Given the description of an element on the screen output the (x, y) to click on. 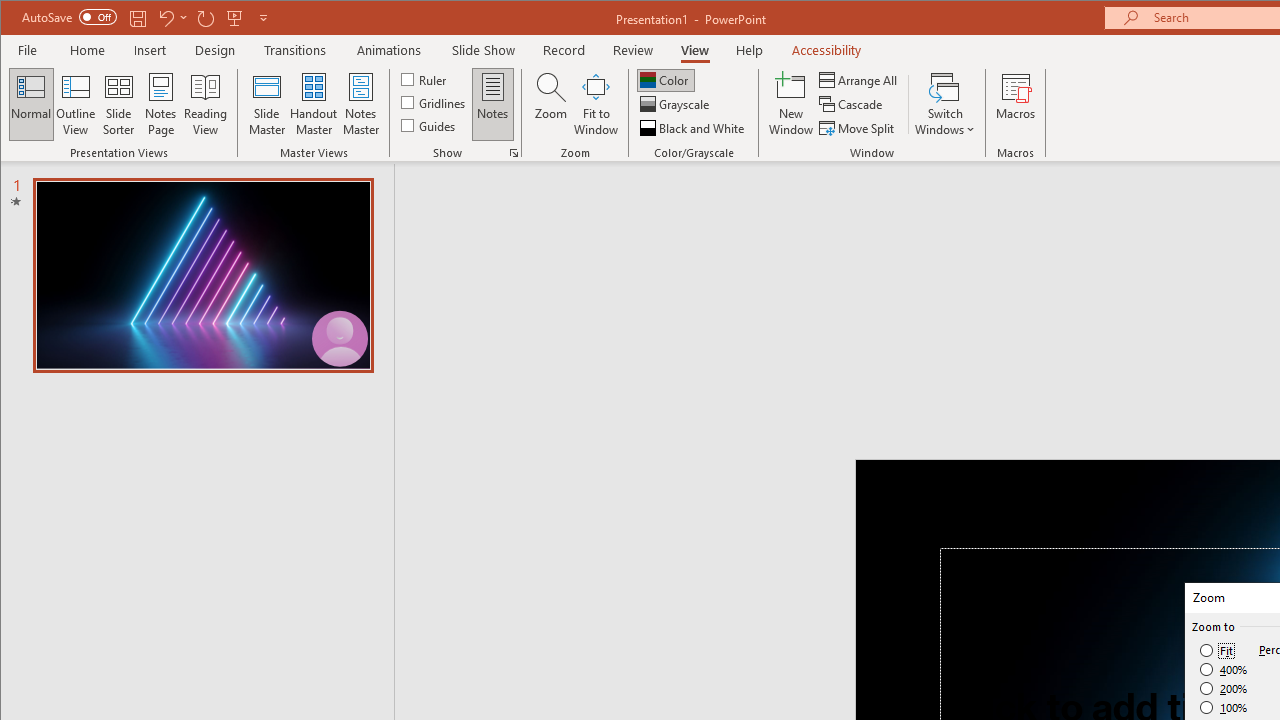
Fit to Window (596, 104)
Arrange All (859, 80)
Grid Settings... (513, 152)
Ruler (425, 78)
Color (666, 80)
New Window (791, 104)
Move Split (858, 127)
Notes Master (360, 104)
Handout Master (314, 104)
Fit (1217, 650)
